Given the description of an element on the screen output the (x, y) to click on. 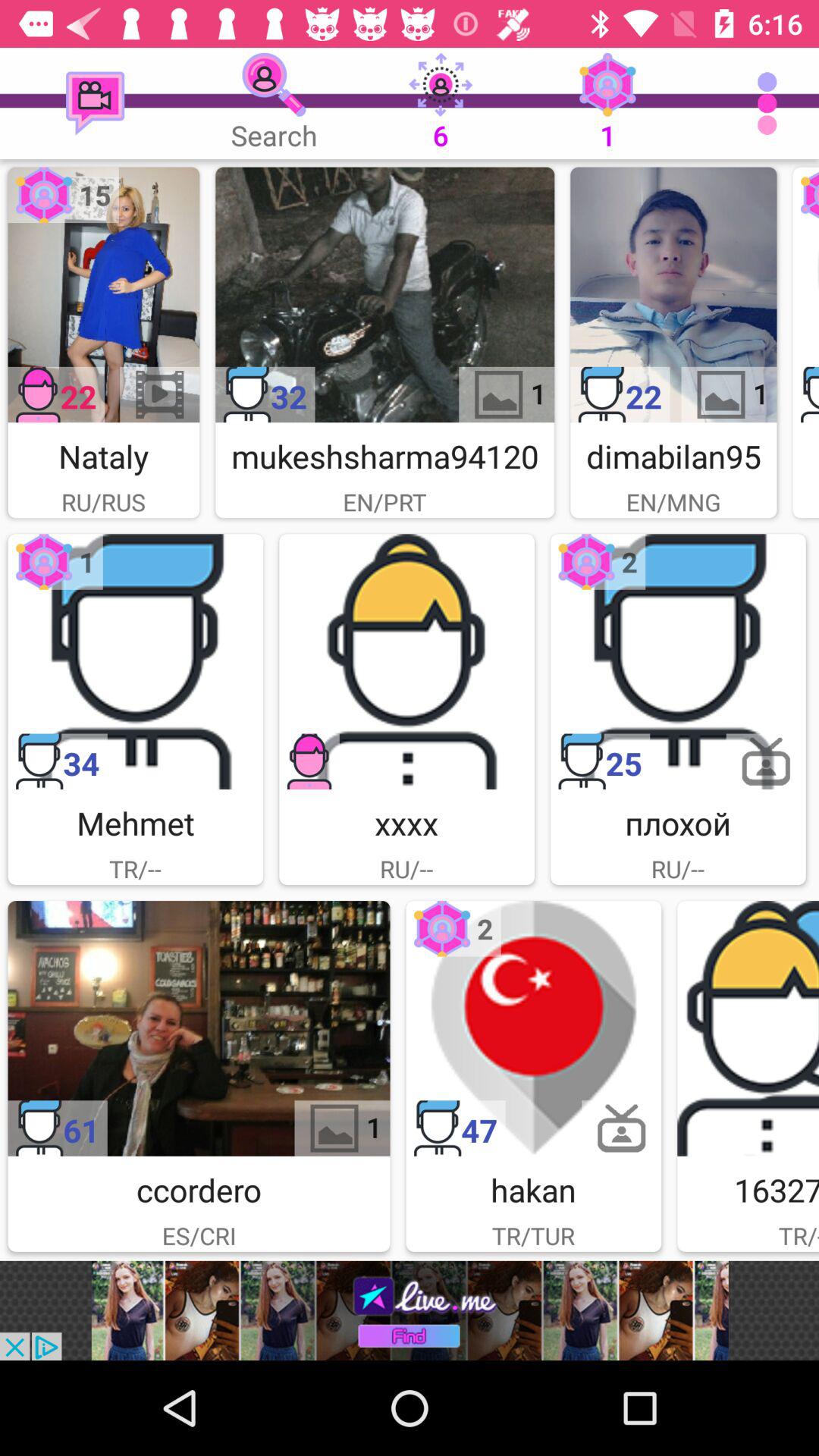
select item (135, 661)
